Given the description of an element on the screen output the (x, y) to click on. 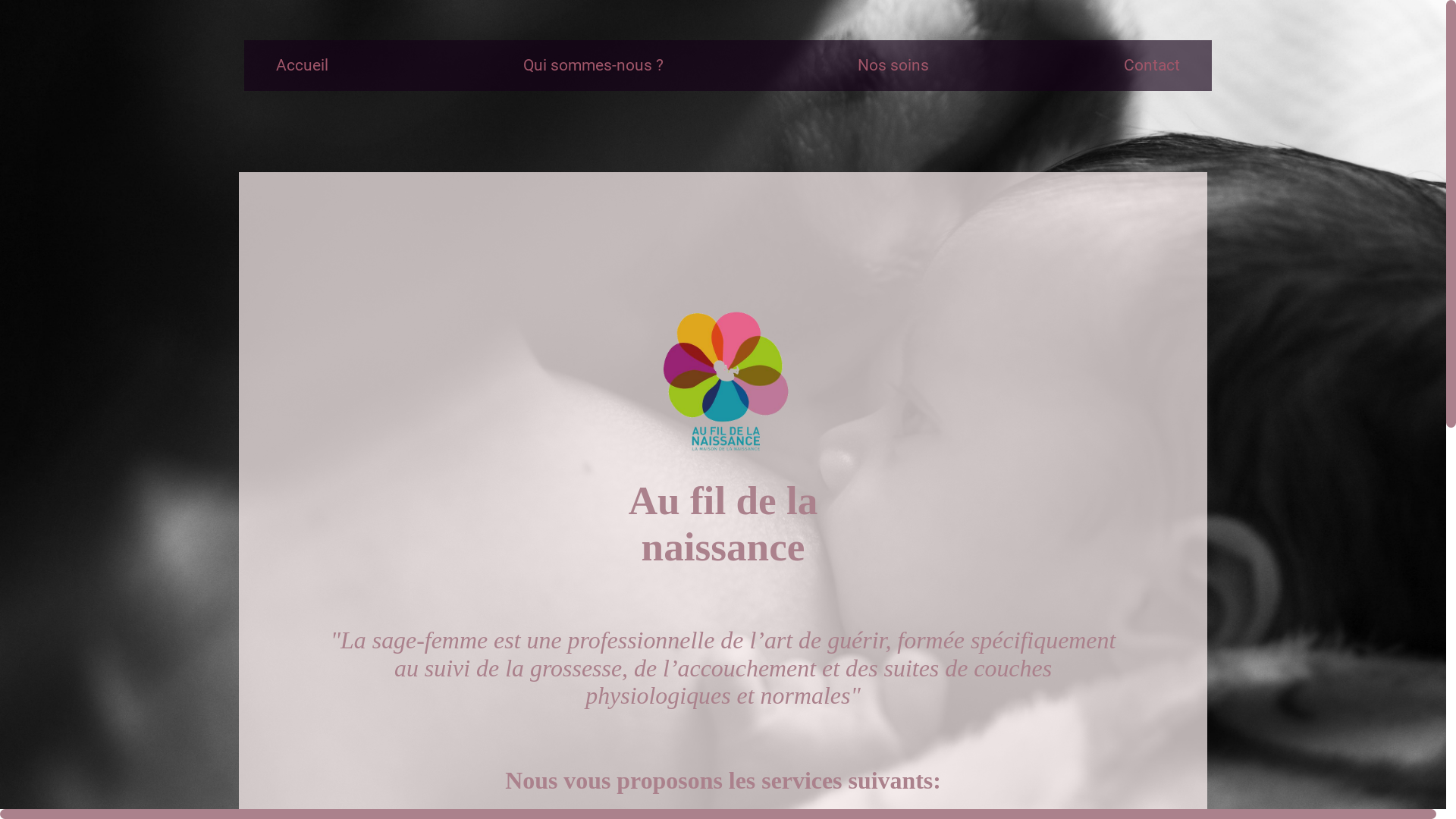
Nos soins Element type: text (893, 65)
Qui sommes-nous ? Element type: text (592, 65)
Accueil Element type: text (302, 65)
Contact Element type: text (1151, 65)
